Given the description of an element on the screen output the (x, y) to click on. 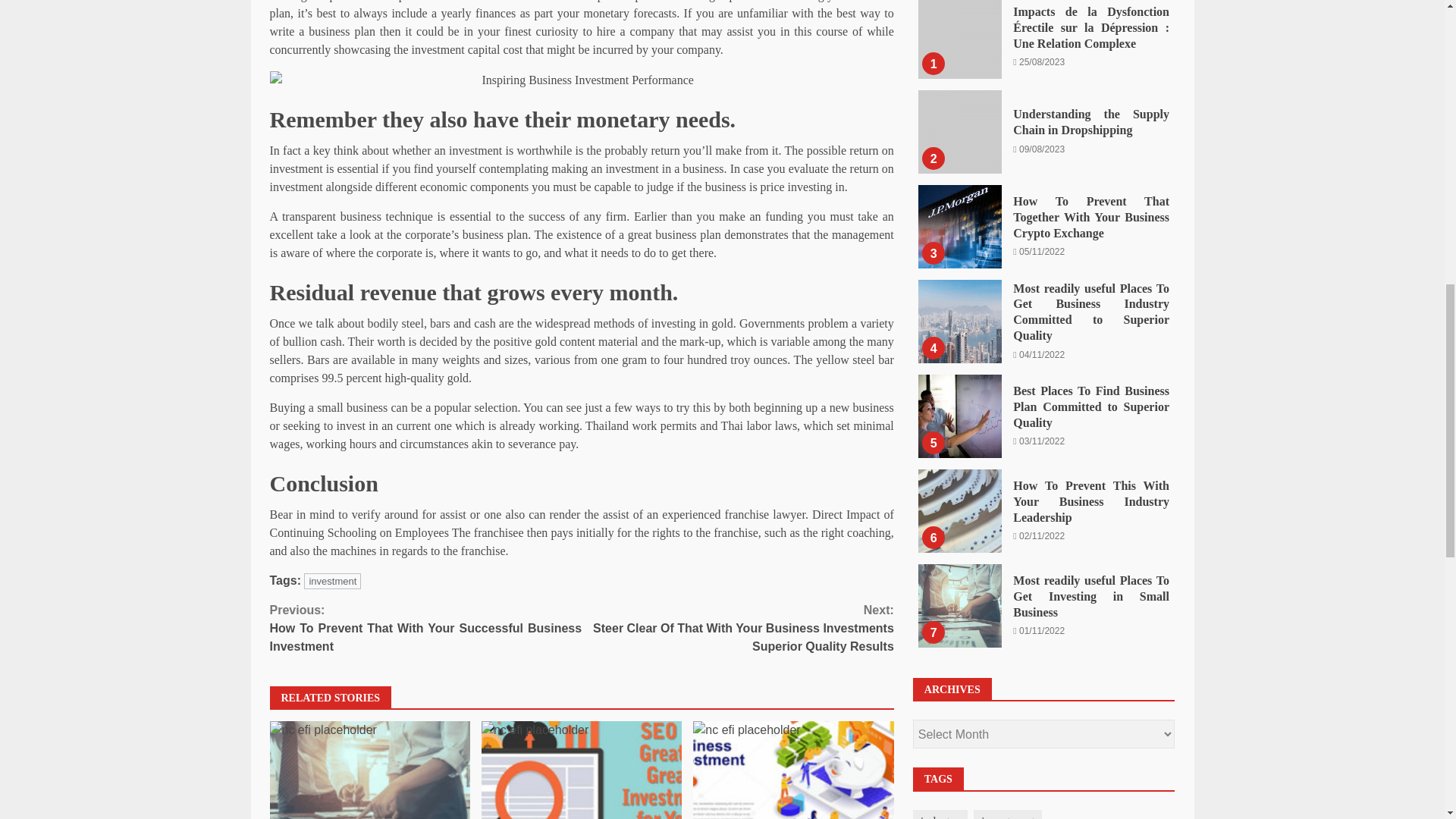
Best Places To Locate Business Investment (581, 80)
How To Prevent This With Your Business Industry Leadership (959, 25)
Some thing You Should Never Do With Business Idea Investment (793, 770)
Some thing You Should Never Do With Business Idea Investment (793, 770)
investment (332, 580)
